Given the description of an element on the screen output the (x, y) to click on. 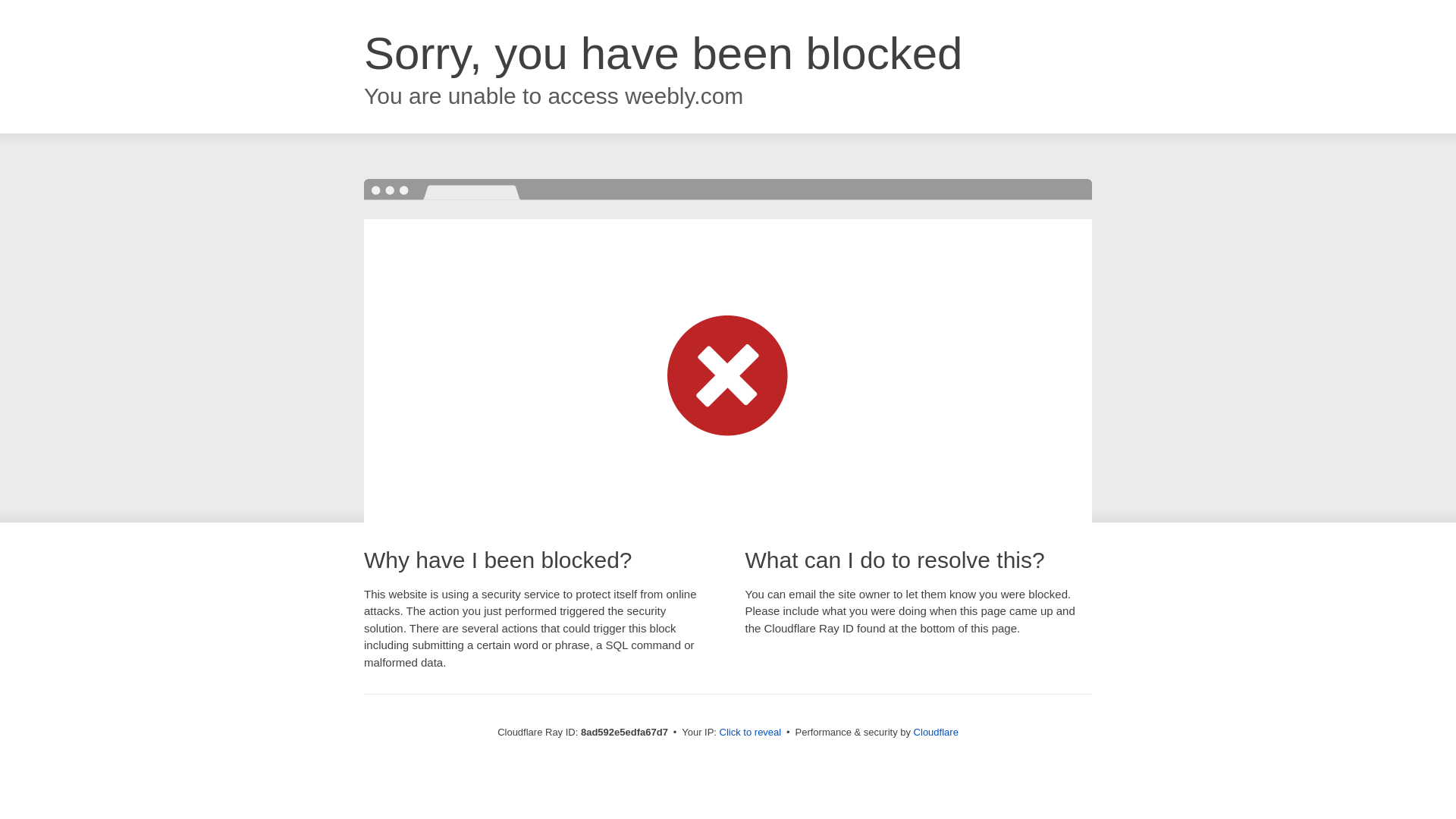
Cloudflare (936, 731)
Click to reveal (750, 732)
